Given the description of an element on the screen output the (x, y) to click on. 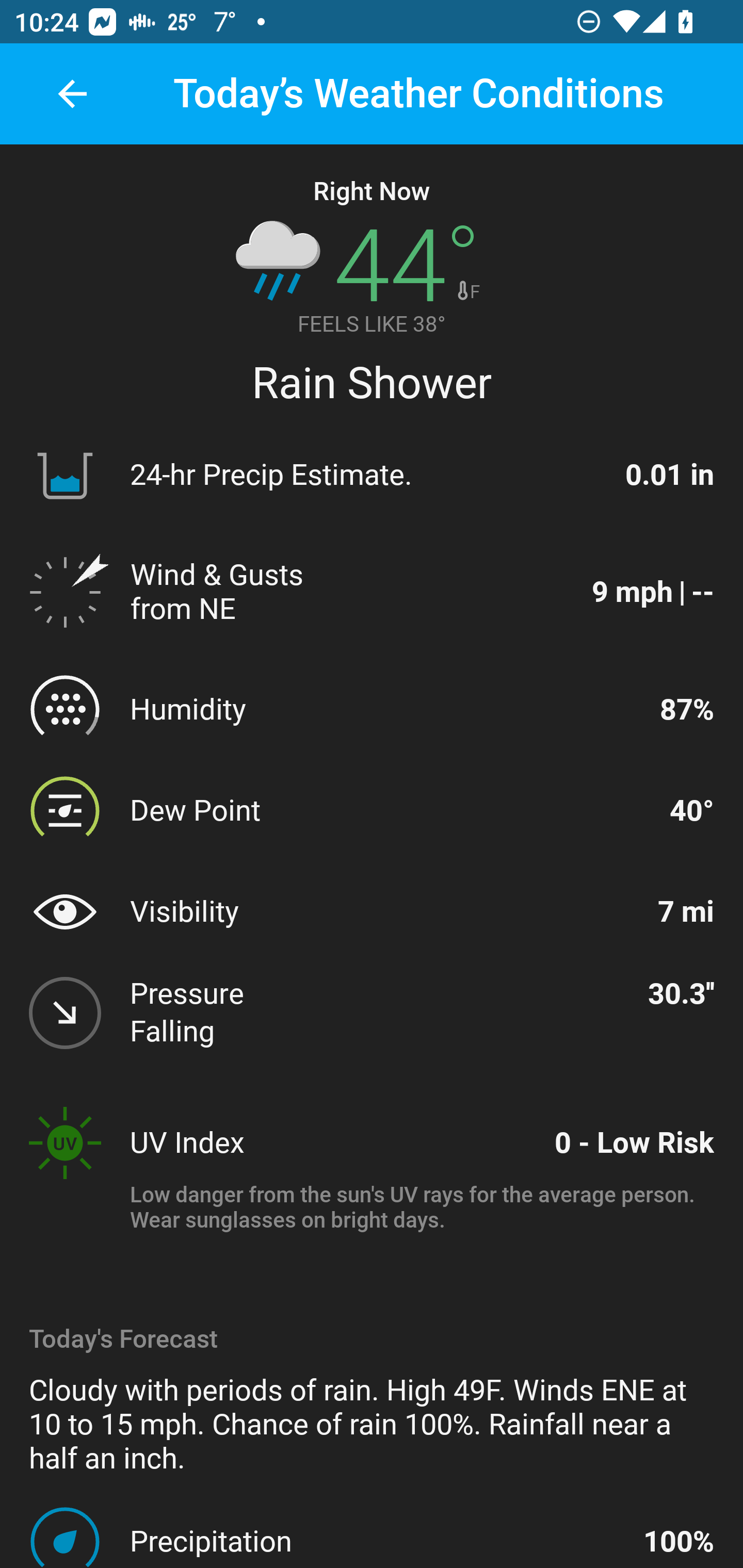
back (71, 93)
Precipitation (377, 1541)
100% (678, 1541)
